Given the description of an element on the screen output the (x, y) to click on. 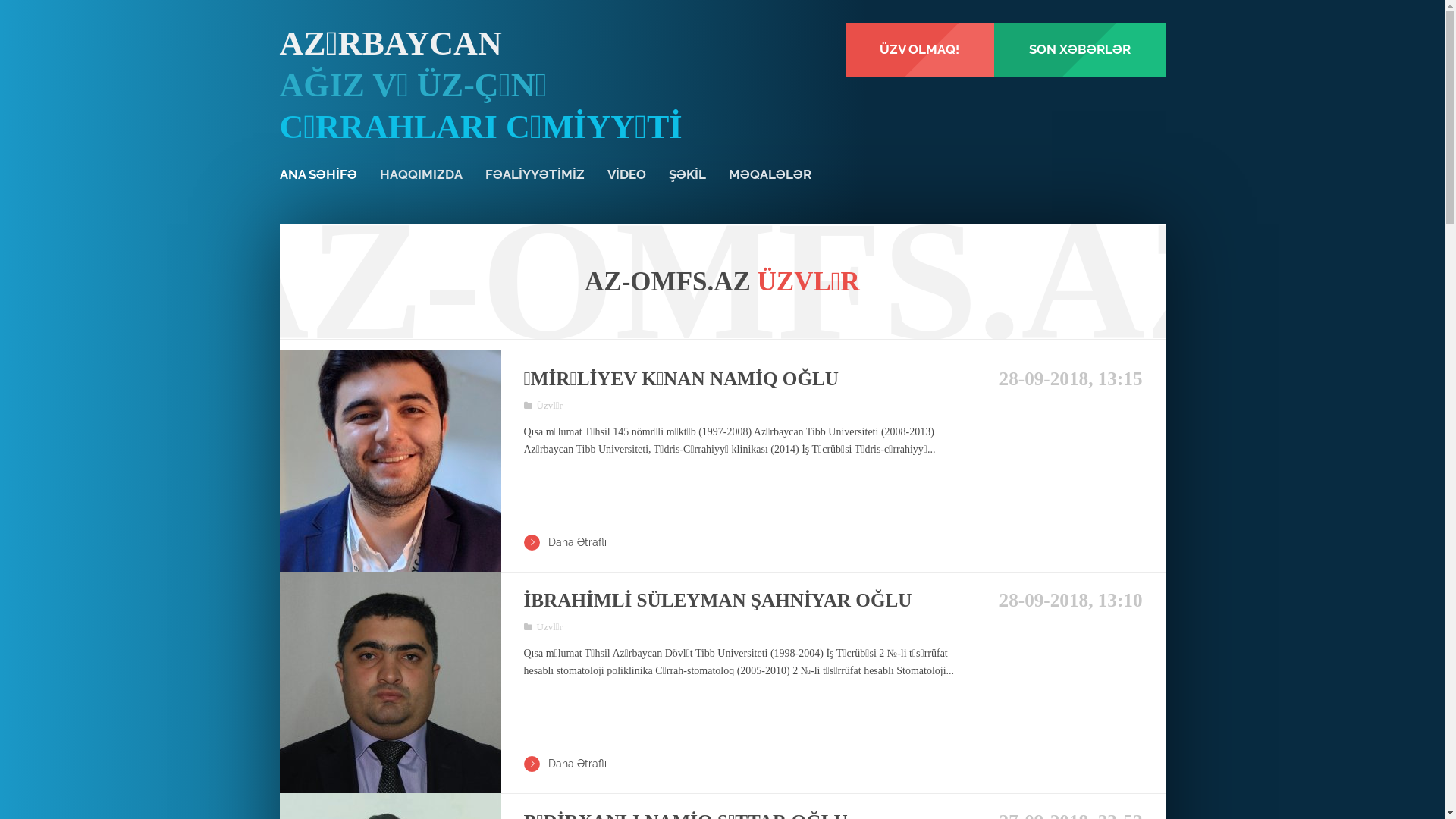
28-09-2018, 13:10 Element type: text (1065, 600)
HAQQIMIZDA Element type: text (420, 174)
28-09-2018, 13:15 Element type: text (1065, 379)
